Given the description of an element on the screen output the (x, y) to click on. 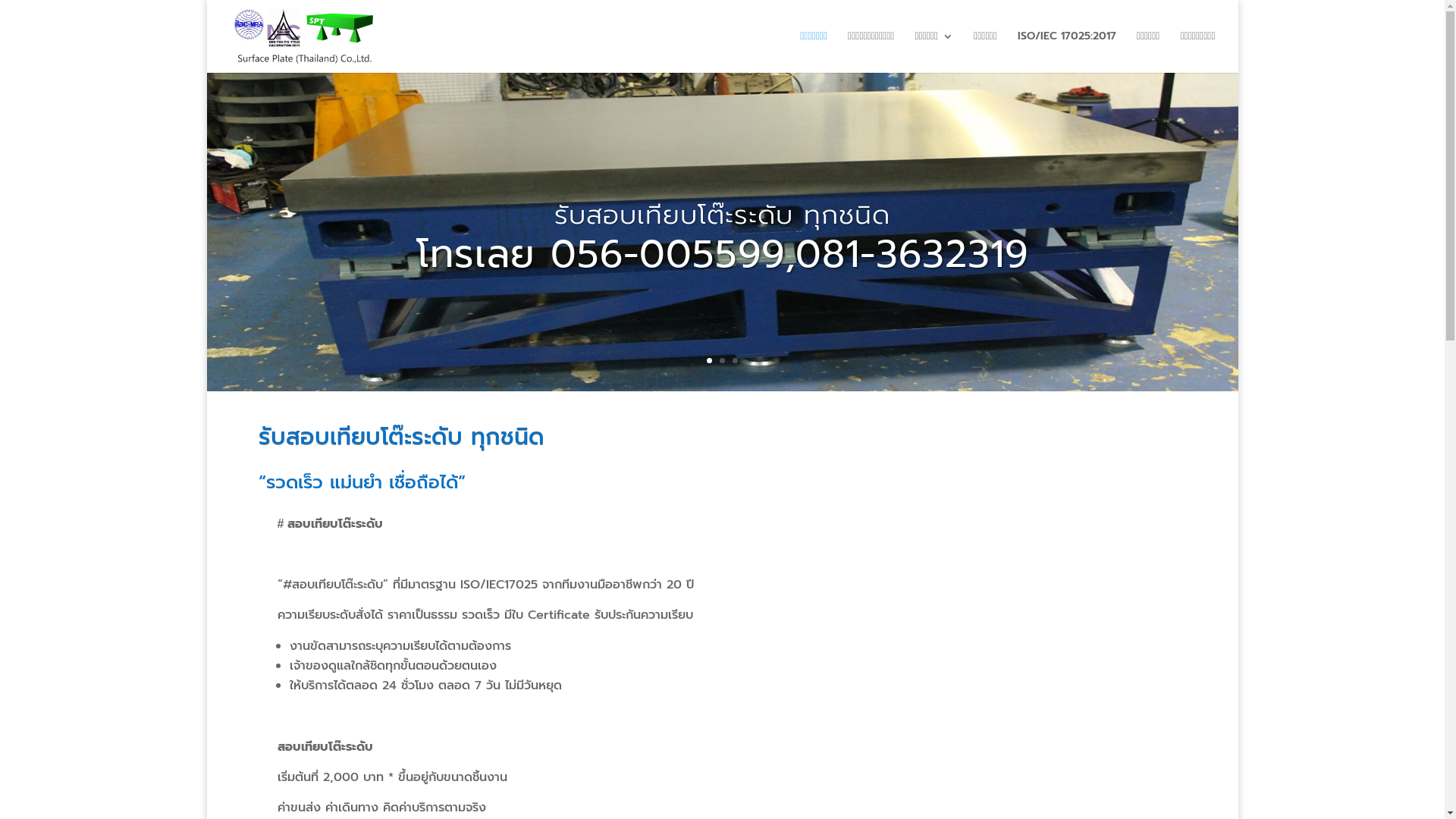
2 Element type: text (721, 360)
3 Element type: text (734, 360)
1 Element type: text (709, 360)
ISO/IEC 17025:2017 Element type: text (1066, 51)
